Given the description of an element on the screen output the (x, y) to click on. 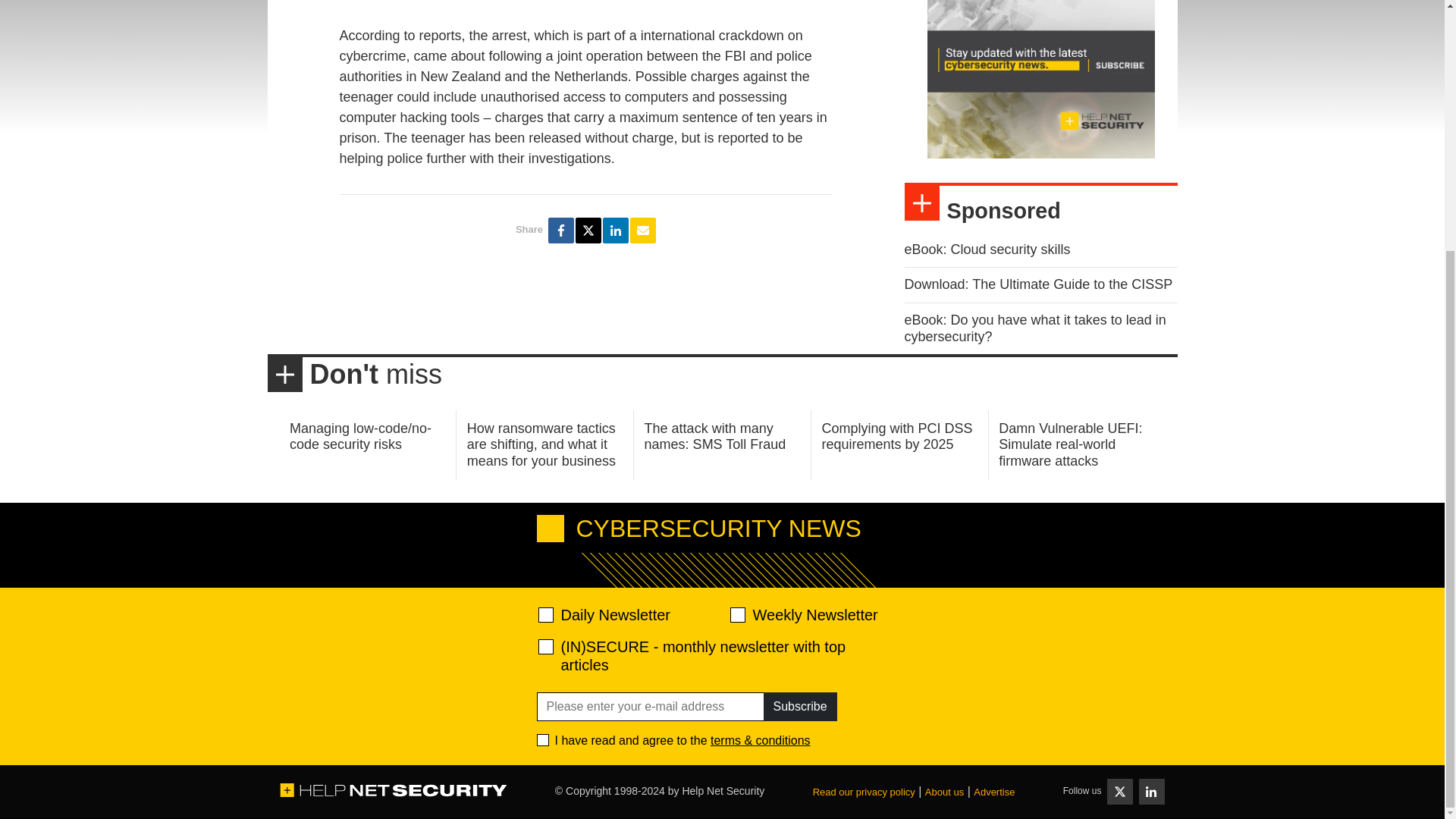
eBook: Cloud security skills (987, 249)
Subscribe (798, 706)
28abe5d9ef (545, 646)
Download: The Ultimate Guide to the CISSP (1038, 283)
eBook: Do you have what it takes to lead in cybersecurity? (1035, 327)
